Given the description of an element on the screen output the (x, y) to click on. 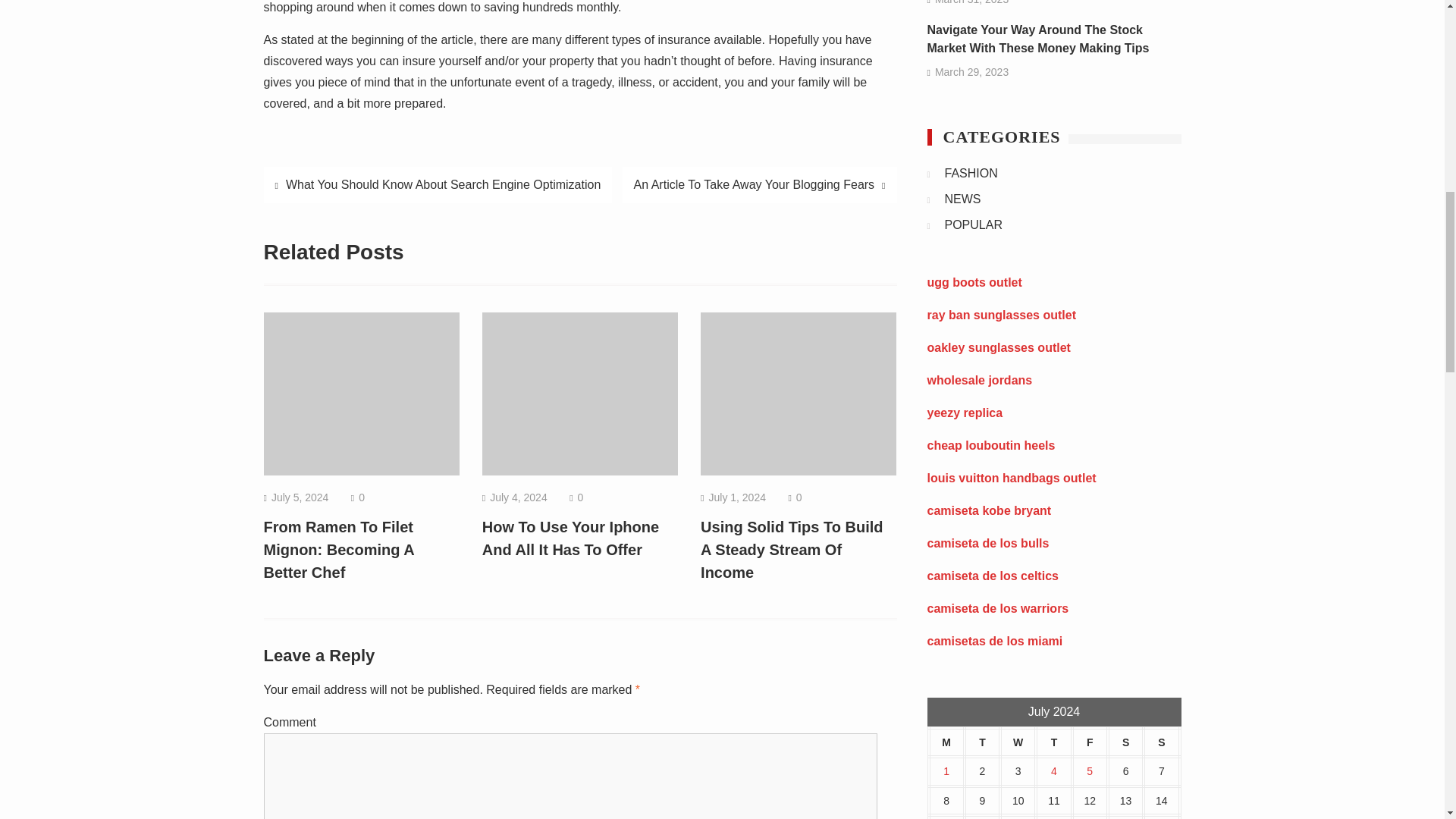
Friday (1089, 742)
Monday (945, 742)
Wednesday (1017, 742)
Tuesday (981, 742)
An Article To Take Away Your Blogging Fears (759, 185)
Thursday (1053, 742)
Sunday (1160, 742)
Saturday (1125, 742)
From Ramen To Filet Mignon: Becoming A Better Chef (338, 549)
How To Use Your Iphone And All It Has To Offer (570, 537)
Using Solid Tips To Build A Steady Stream Of Income (791, 549)
What You Should Know About Search Engine Optimization (437, 185)
